Given the description of an element on the screen output the (x, y) to click on. 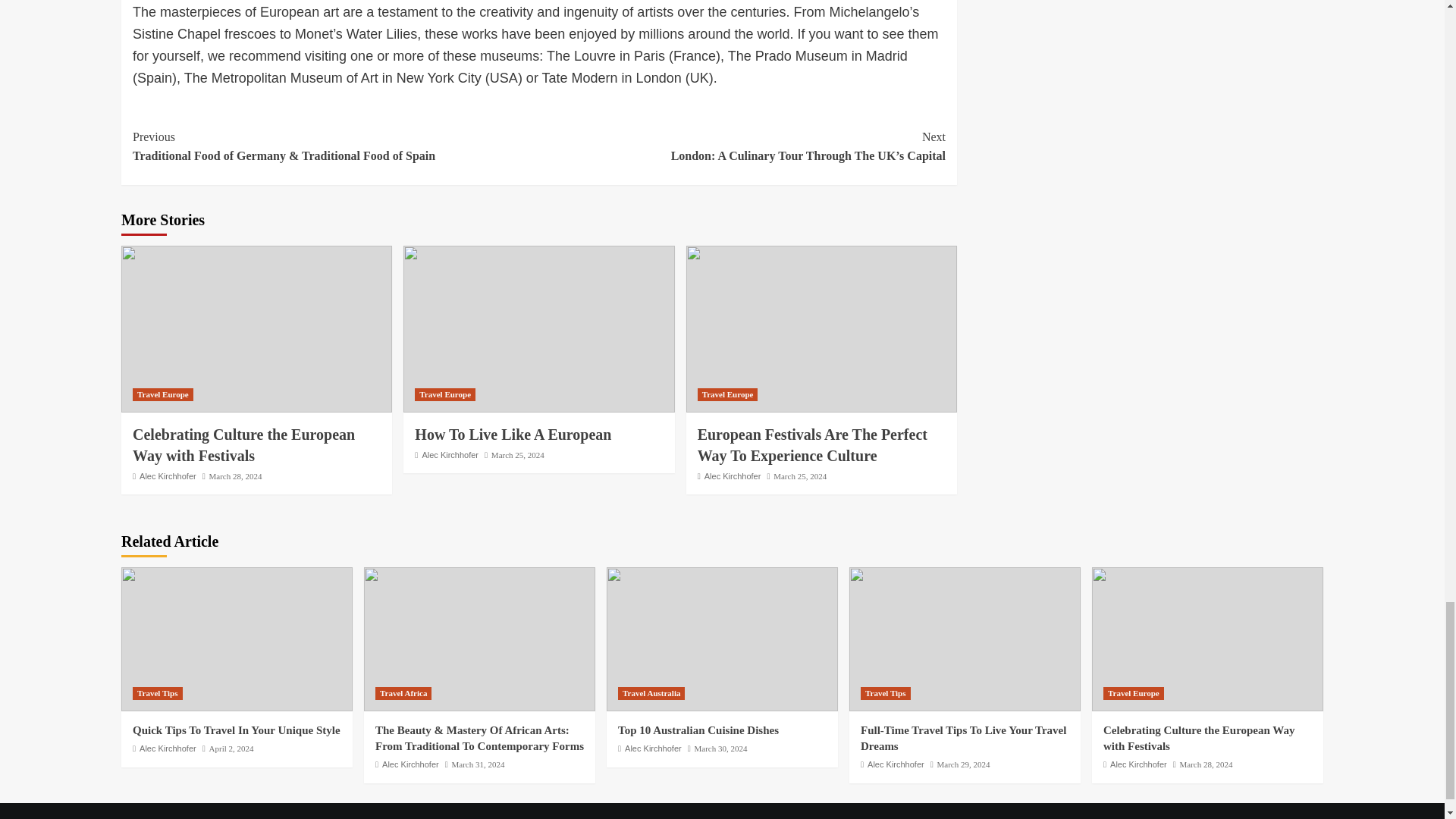
March 25, 2024 (800, 475)
Travel Europe (162, 394)
Celebrating Culture the European Way with Festivals (243, 444)
European Festivals Are The Perfect Way To Experience Culture (812, 444)
March 28, 2024 (235, 475)
March 25, 2024 (518, 454)
Travel Europe (445, 394)
How To Live Like A European (512, 434)
Alec Kirchhofer (732, 475)
Alec Kirchhofer (450, 454)
Alec Kirchhofer (167, 475)
Travel Europe (727, 394)
